Given the description of an element on the screen output the (x, y) to click on. 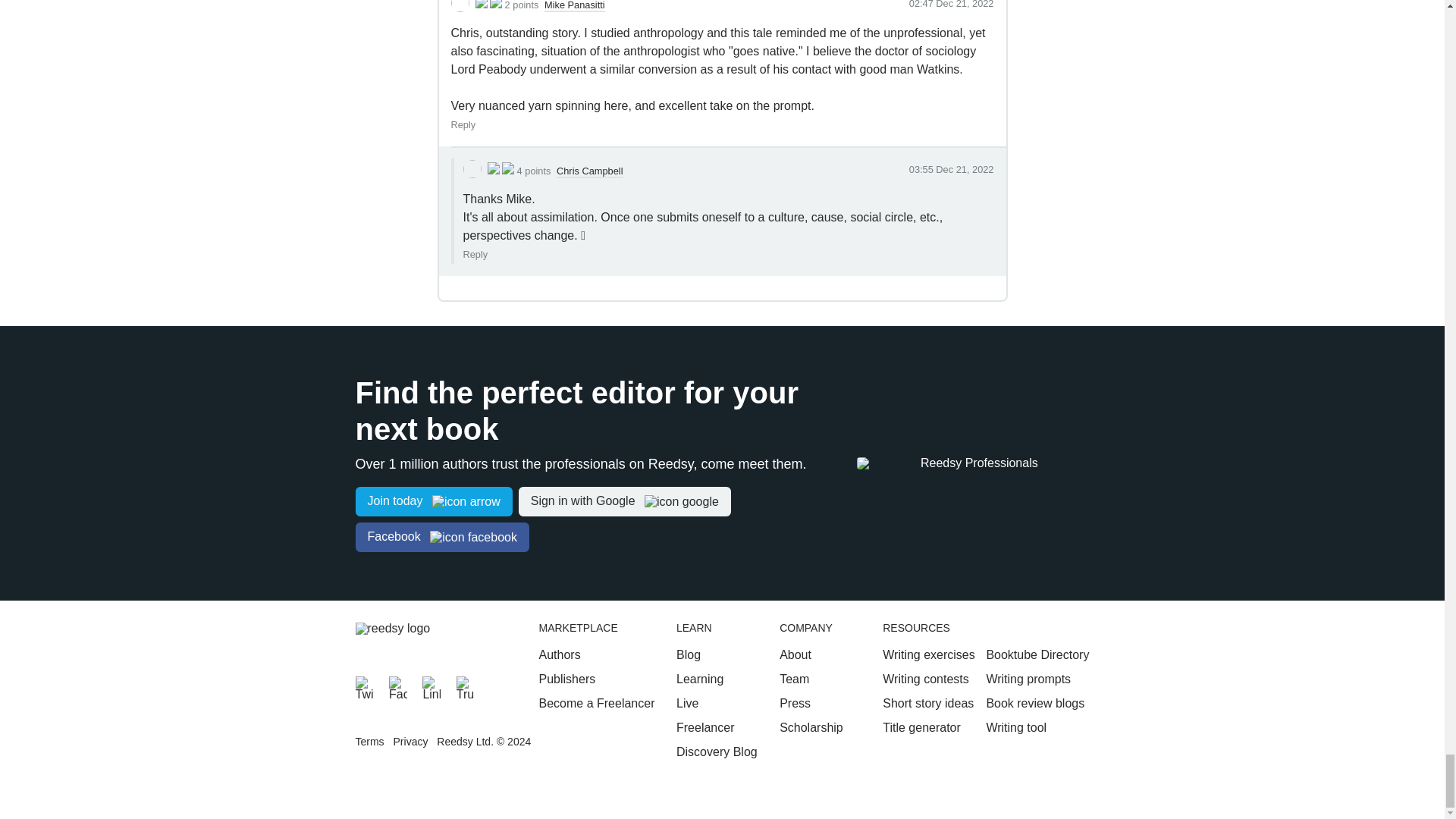
Sign in with Facebook (441, 537)
Trustpilot (465, 685)
Sign in with Google (624, 501)
Twitter (363, 685)
Facebook (397, 685)
Sign up (433, 501)
LinkedIn (431, 685)
